Given the description of an element on the screen output the (x, y) to click on. 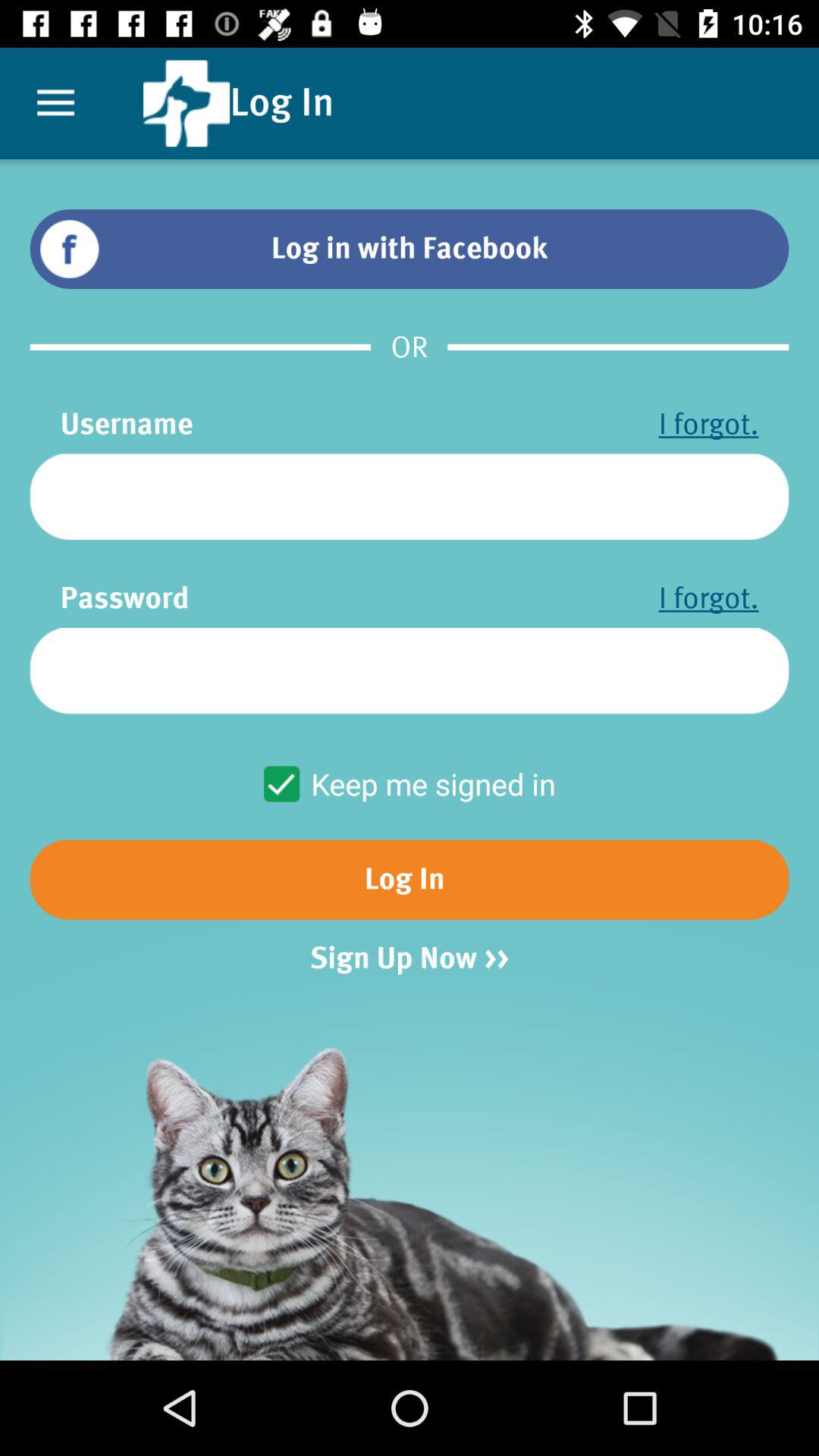
passowrd dialogue box (409, 670)
